Given the description of an element on the screen output the (x, y) to click on. 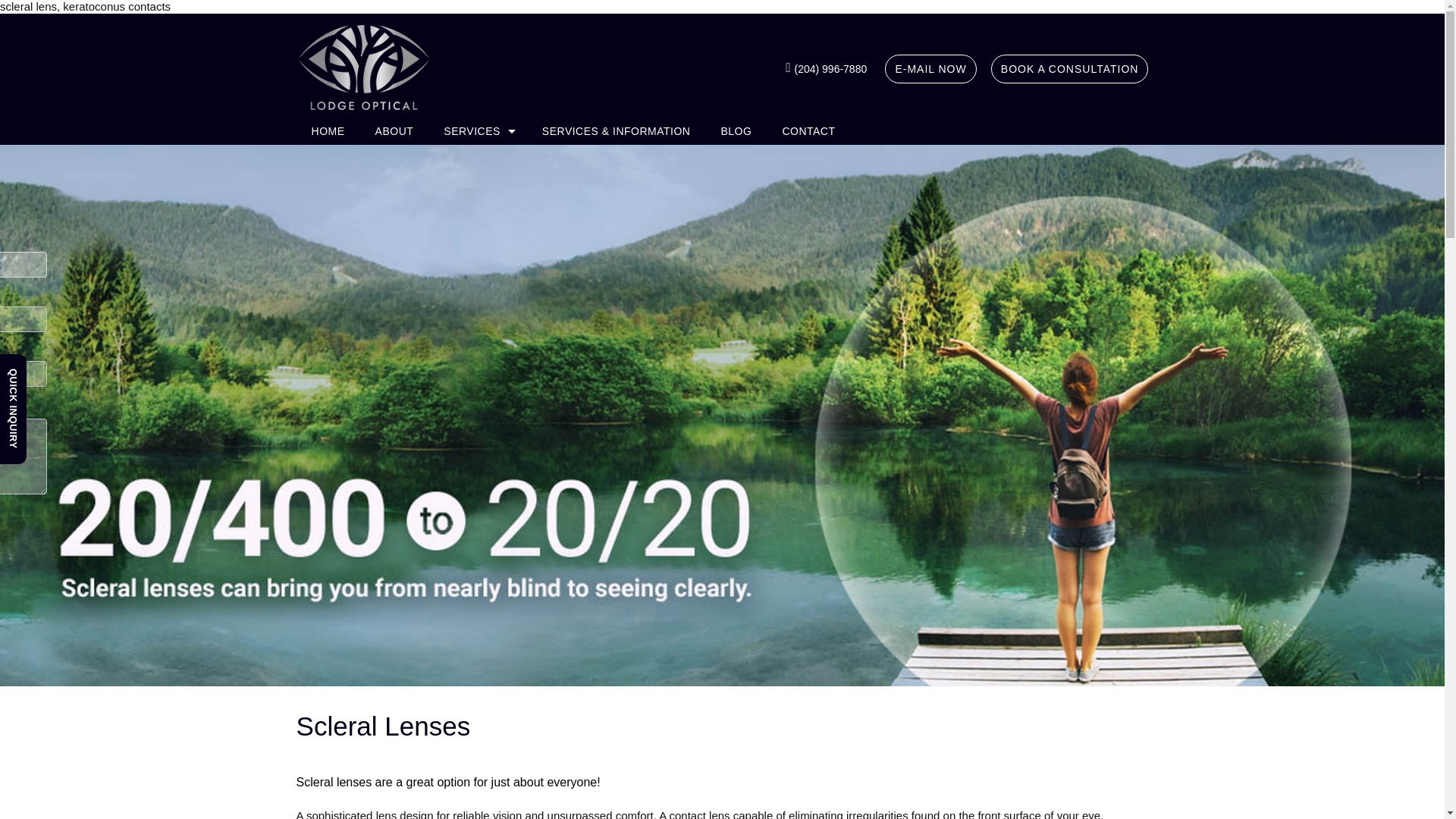
HOME (328, 130)
SERVICES (477, 130)
BLOG (735, 130)
CONTACT (808, 130)
BOOK A CONSULTATION (1069, 68)
E-MAIL NOW (930, 68)
ABOUT (394, 130)
